Given the description of an element on the screen output the (x, y) to click on. 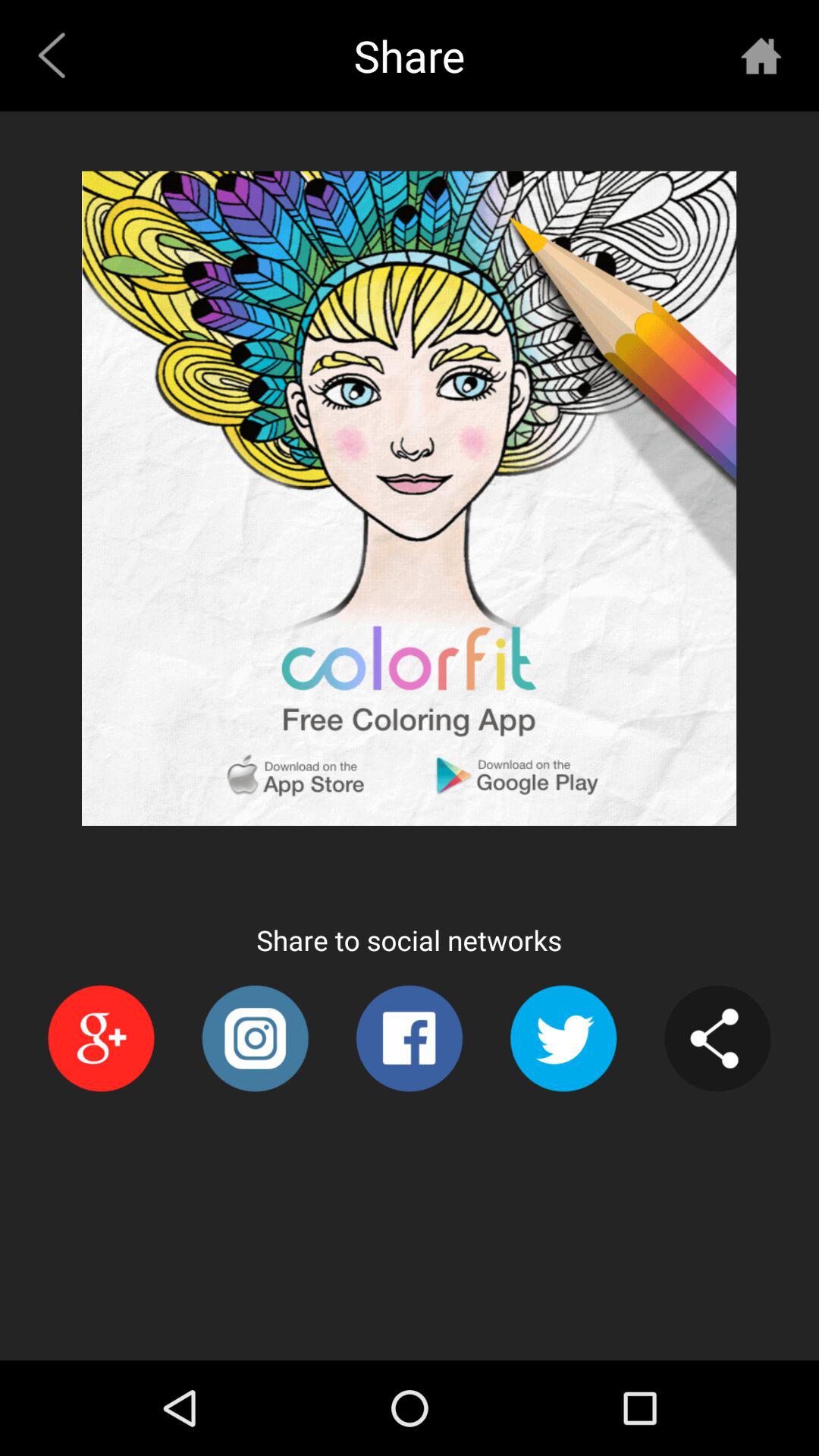
click item at the top right corner (761, 55)
